Given the description of an element on the screen output the (x, y) to click on. 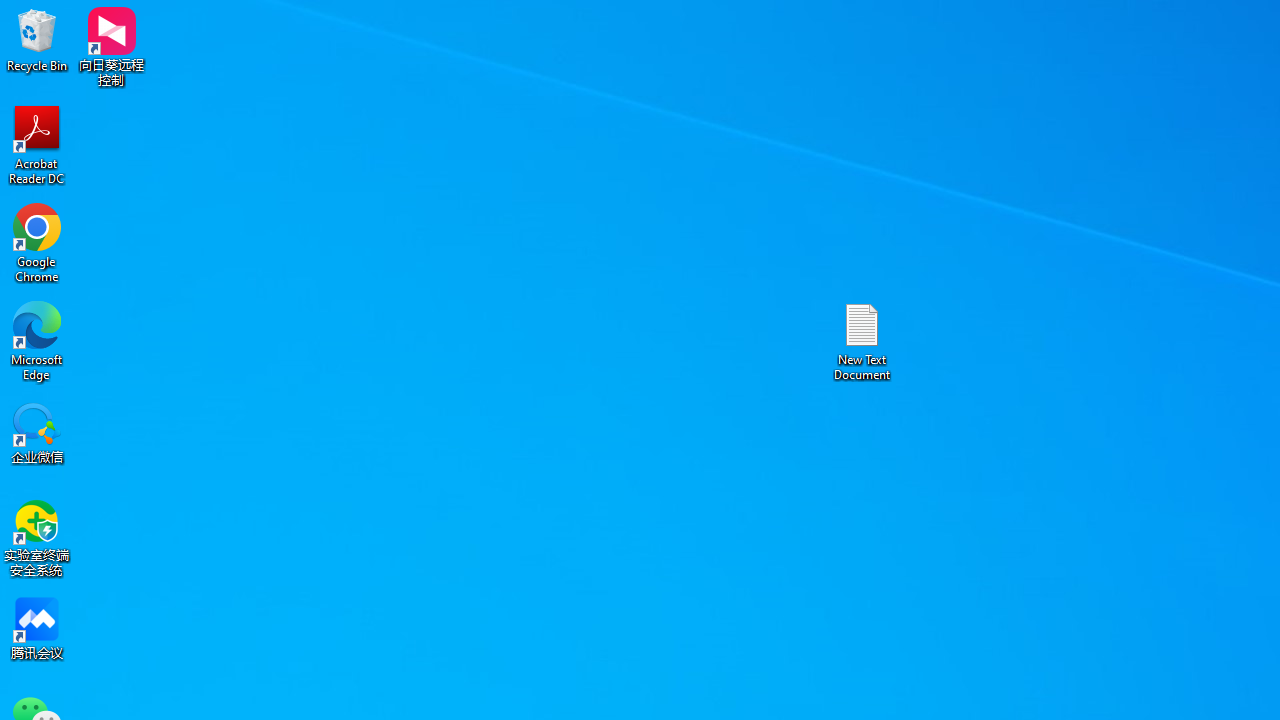
Title (1135, 100)
Undo AutoCorrect (170, 15)
